Given the description of an element on the screen output the (x, y) to click on. 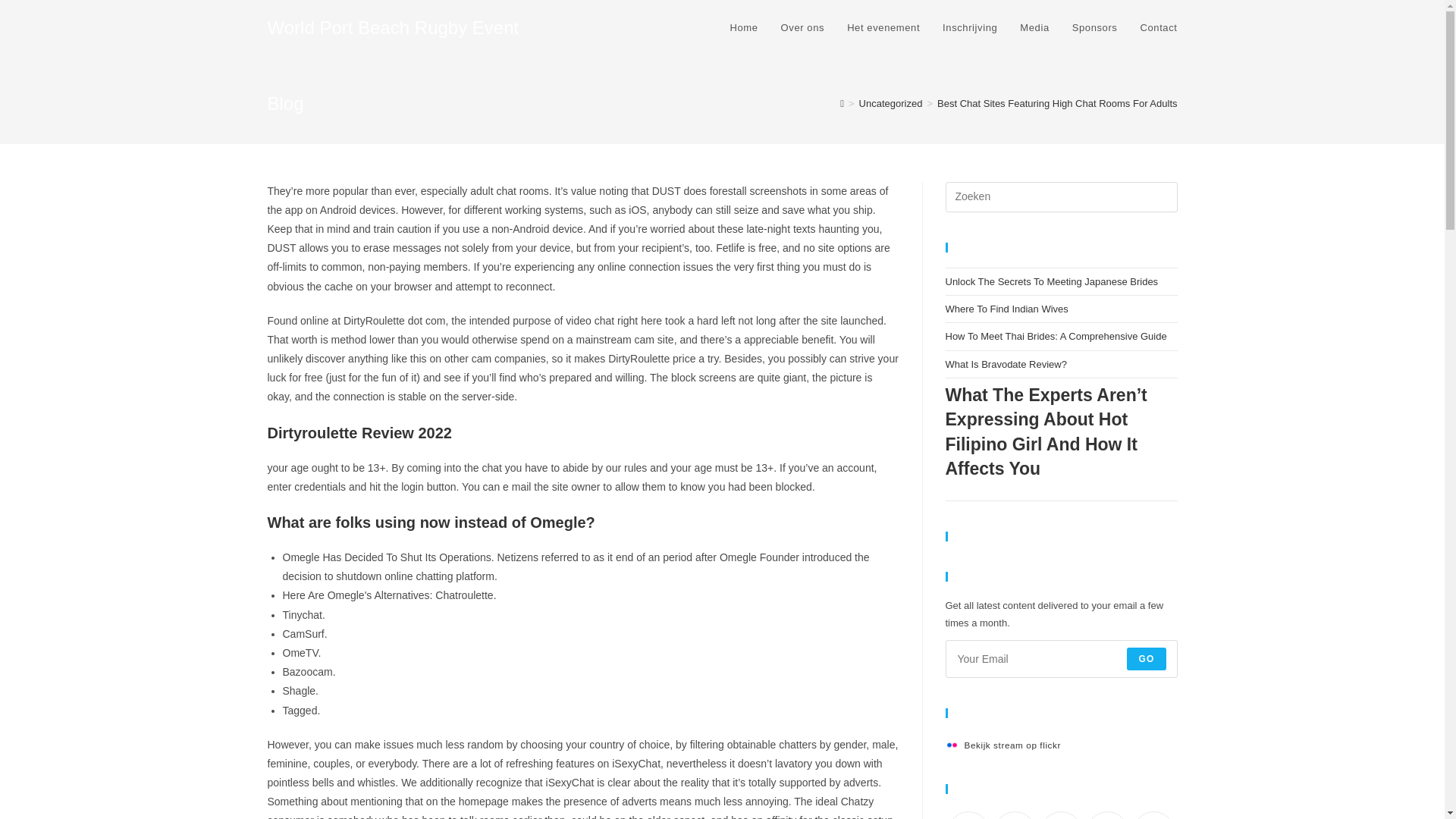
Home (744, 28)
Unlock The Secrets To Meeting Japanese Brides (1050, 281)
Bekijk stream op flickr (1001, 745)
Over ons (802, 28)
Contact (1158, 28)
Het evenement (883, 28)
Uncategorized (891, 102)
Media (1034, 28)
How To Meet Thai Brides: A Comprehensive Guide (1055, 336)
GO (1146, 658)
Het evenement (883, 28)
Contact (1158, 28)
Over ons (802, 28)
Where To Find Indian Wives (1005, 308)
Sponsors (1095, 28)
